Given the description of an element on the screen output the (x, y) to click on. 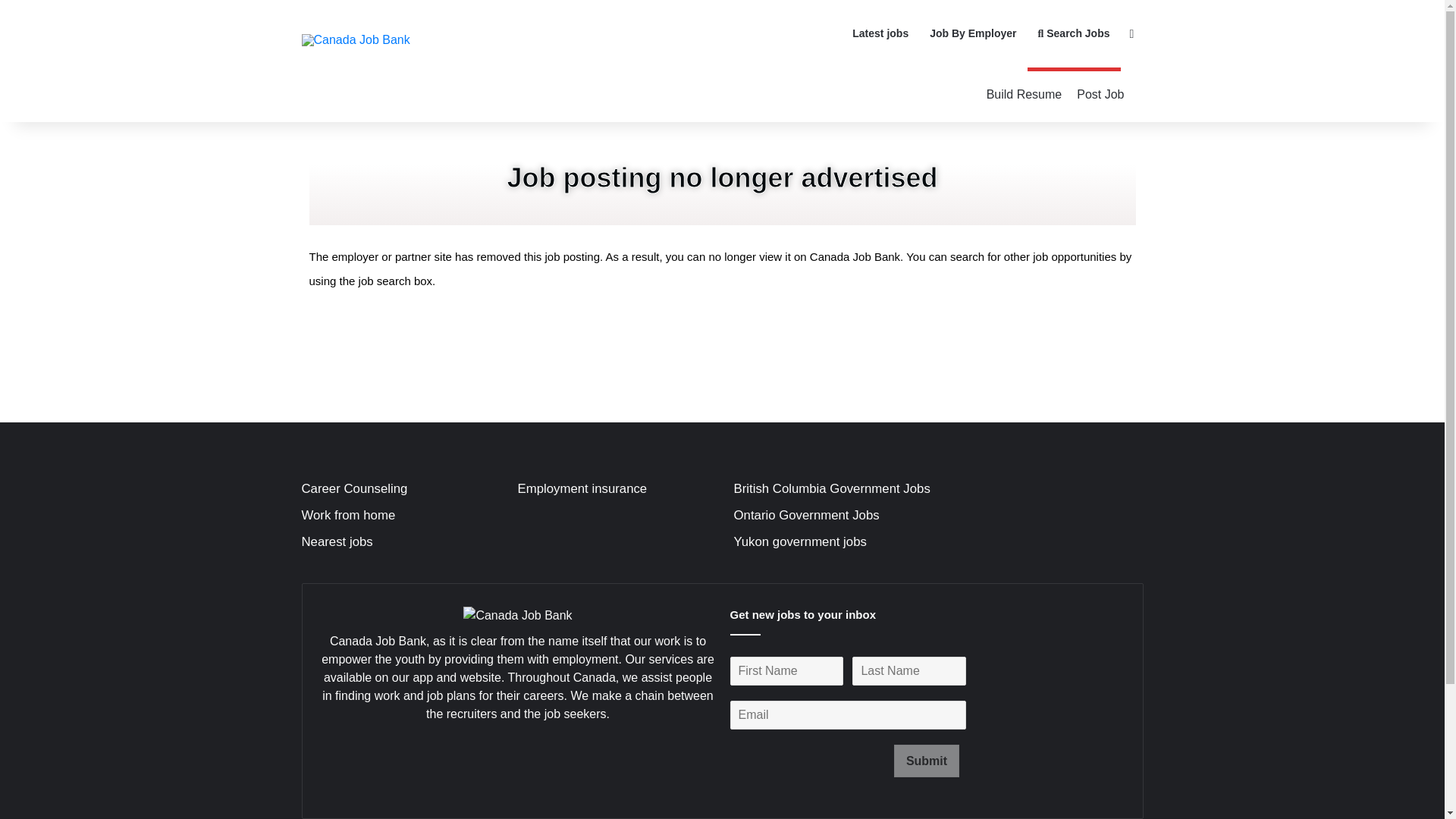
Work from home (348, 514)
Employment insurance (581, 488)
Build Resume (1024, 94)
Yukon government jobs (799, 541)
Job By Employer (972, 33)
British Columbia Government Jobs (831, 488)
Search Jobs (1074, 33)
Canada Job Bank (355, 39)
Ontario Government Jobs (806, 514)
Career Counseling (354, 488)
Latest jobs (879, 33)
Post Job (1099, 94)
Submit (926, 760)
Nearest jobs (336, 541)
